Given the description of an element on the screen output the (x, y) to click on. 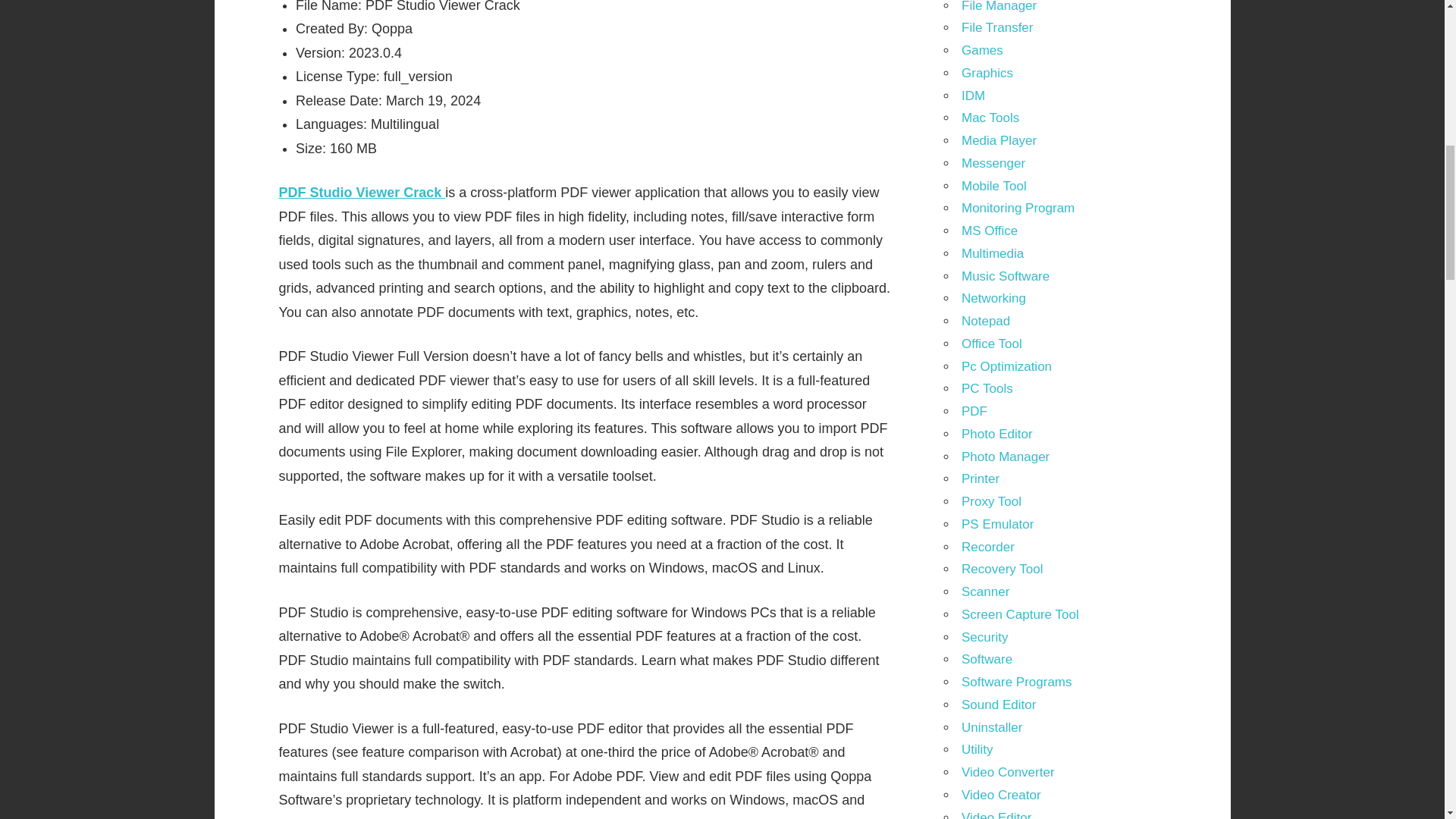
PDF Studio Viewer Crack (362, 192)
